Given the description of an element on the screen output the (x, y) to click on. 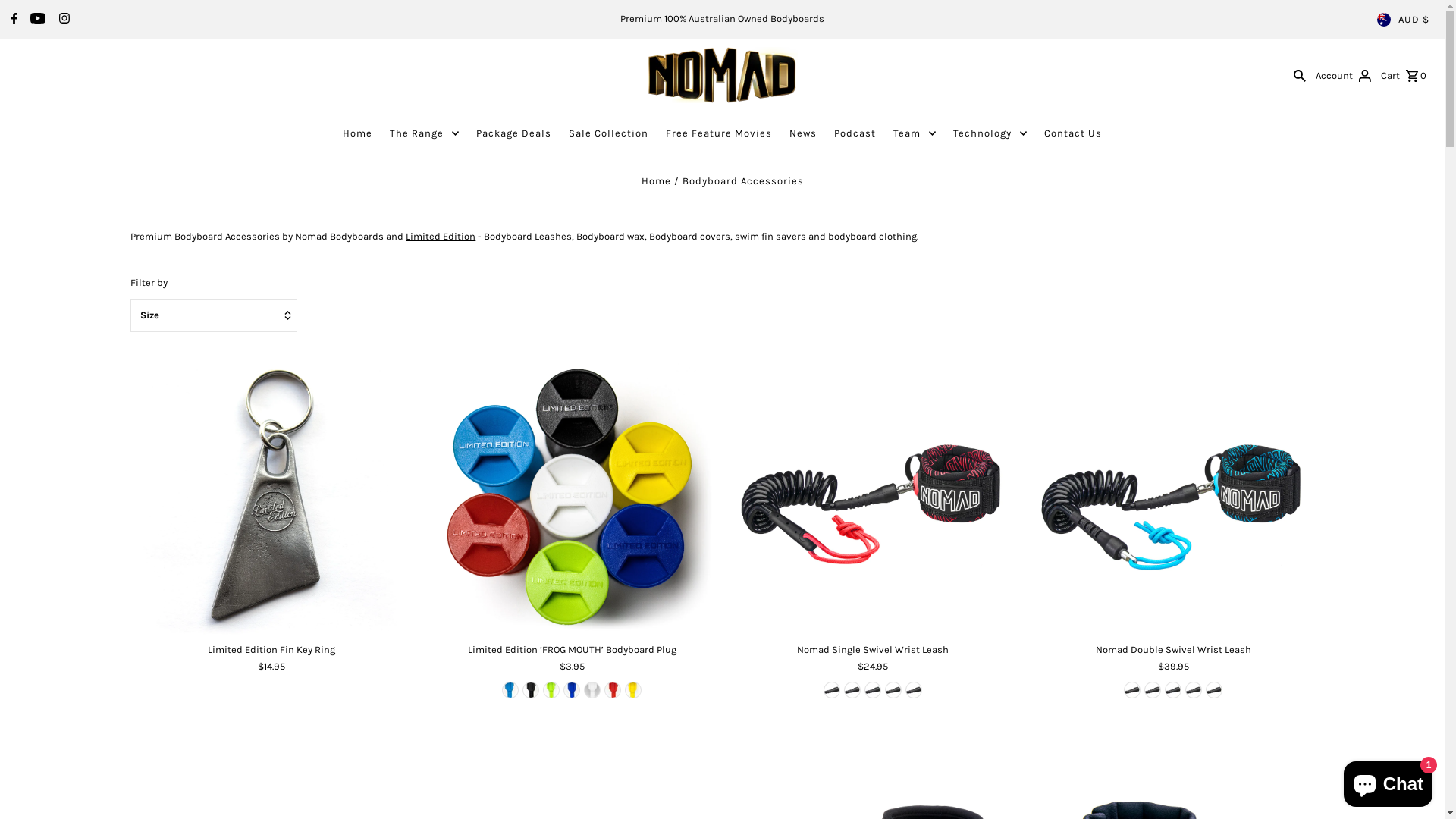
Free Feature Movies Element type: text (718, 133)
Limited Edition Fin Key Ring Element type: hover (270, 495)
Blue Element type: hover (851, 689)
Home Element type: text (357, 133)
Technology Element type: text (989, 133)
Az Blue Element type: hover (509, 689)
Nomad Single Swivel Wrist Leash Element type: hover (872, 495)
Yellow Element type: hover (913, 689)
Contact Us Element type: text (1072, 133)
The Range Element type: text (424, 133)
Navy Blue Element type: hover (571, 689)
Nomad Double Swivel Wrist Leash Element type: hover (1172, 495)
Podcast Element type: text (854, 133)
White Element type: hover (831, 689)
AUD $ Element type: text (1403, 19)
Limited Edition Fin Key Ring Element type: text (270, 649)
Yellow Element type: hover (632, 689)
White Element type: hover (591, 689)
White Element type: hover (1193, 689)
News Element type: text (802, 133)
Lime Element type: hover (550, 689)
Red Element type: hover (892, 689)
Blue Element type: hover (1172, 689)
Sale Collection Element type: text (608, 133)
Red Element type: hover (1131, 689)
Red Element type: hover (612, 689)
Lime Element type: hover (872, 689)
Home Element type: text (656, 180)
Lime Element type: hover (1152, 689)
Team Element type: text (914, 133)
Black Element type: hover (530, 689)
Yellow Element type: hover (1213, 689)
Shopify online store chat Element type: hover (1388, 780)
Limited Edition Element type: text (440, 235)
Package Deals Element type: text (513, 133)
Nomad Double Swivel Wrist Leash Element type: text (1172, 649)
Nomad Single Swivel Wrist Leash Element type: text (872, 649)
